Given the description of an element on the screen output the (x, y) to click on. 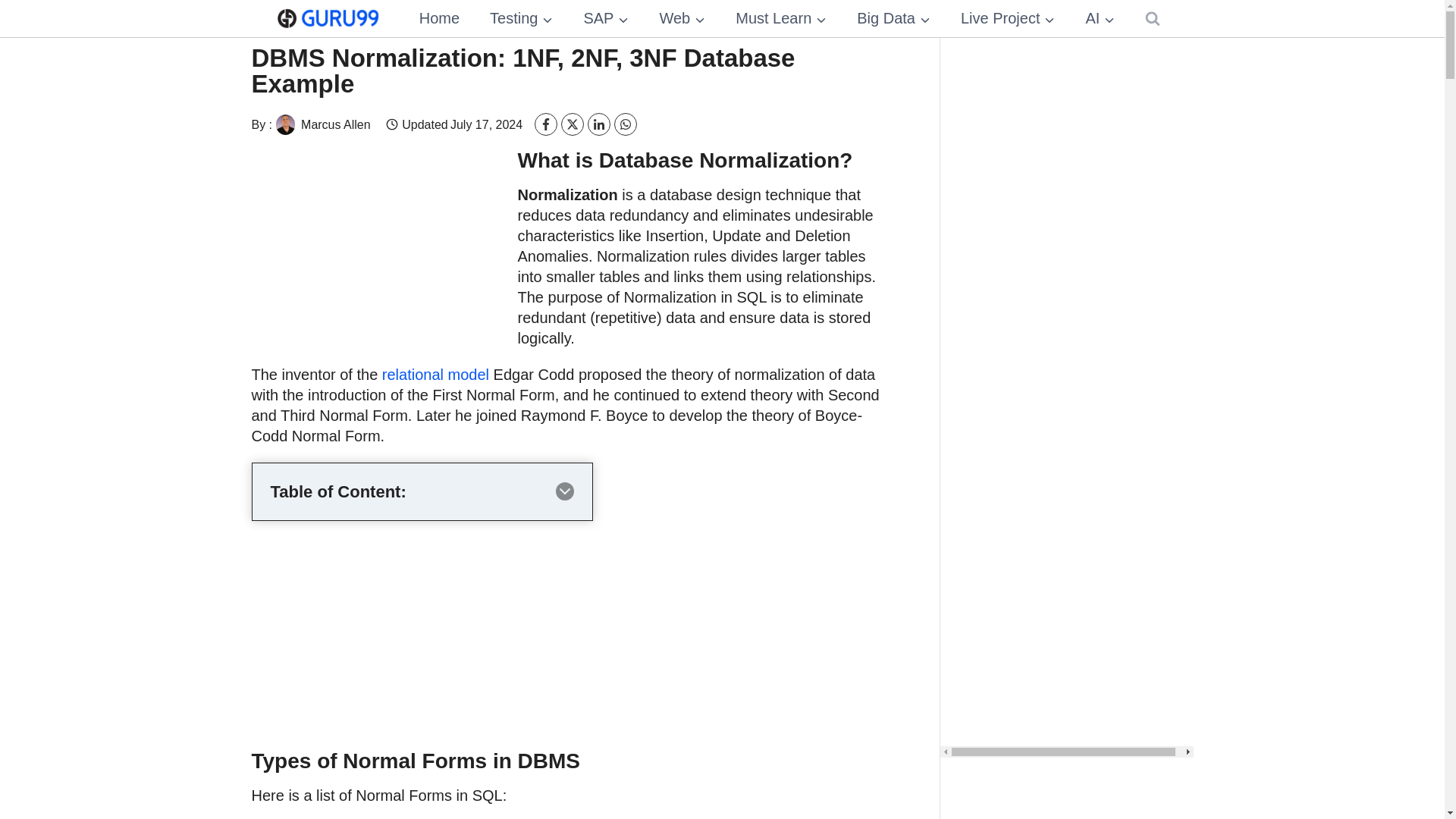
Testing (520, 18)
Home (439, 18)
SAP (605, 18)
Posts by Marcus Allen (321, 123)
